Given the description of an element on the screen output the (x, y) to click on. 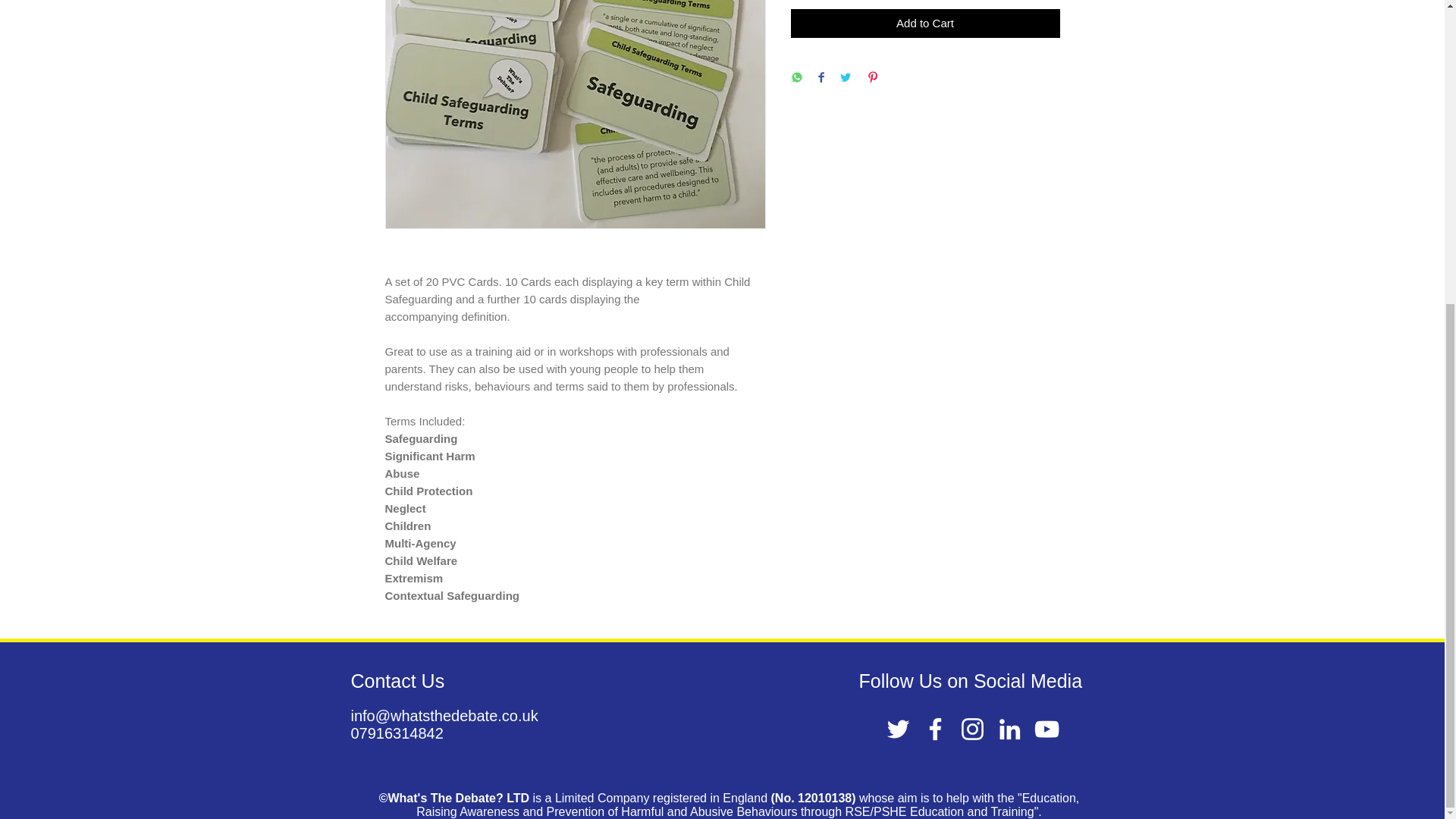
Add to Cart (924, 23)
